Given the description of an element on the screen output the (x, y) to click on. 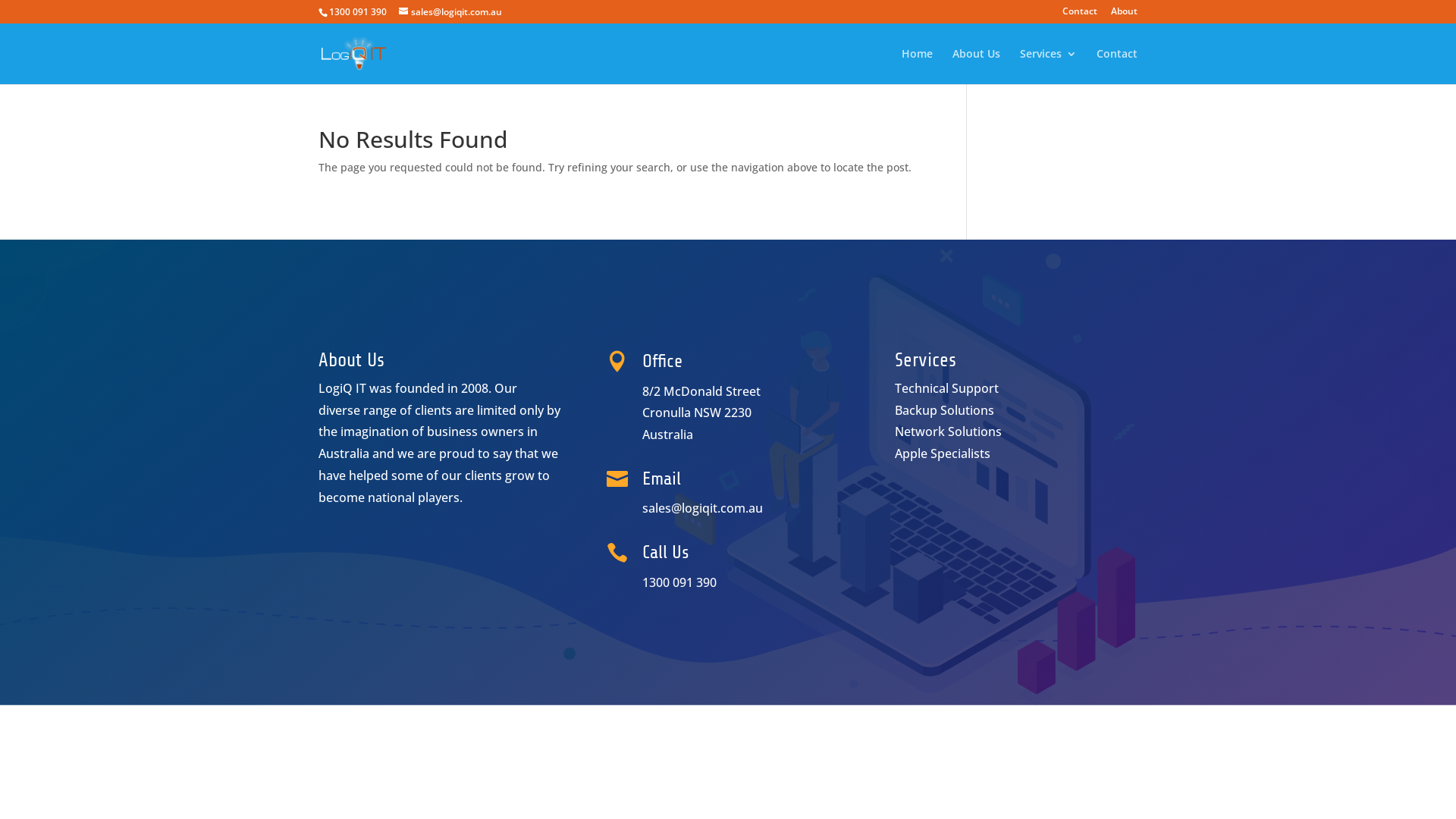
About Us Element type: text (976, 66)
Contact Element type: text (1079, 14)
Services Element type: text (1047, 66)
Home Element type: text (916, 66)
About Element type: text (1123, 14)
Contact Element type: text (1116, 66)
Network Solutions Element type: text (947, 431)
Technical Support Element type: text (946, 387)
Apple Specialists Element type: text (942, 453)
Backup Solutions Element type: text (944, 409)
sales@logiqit.com.au Element type: text (450, 11)
